Given the description of an element on the screen output the (x, y) to click on. 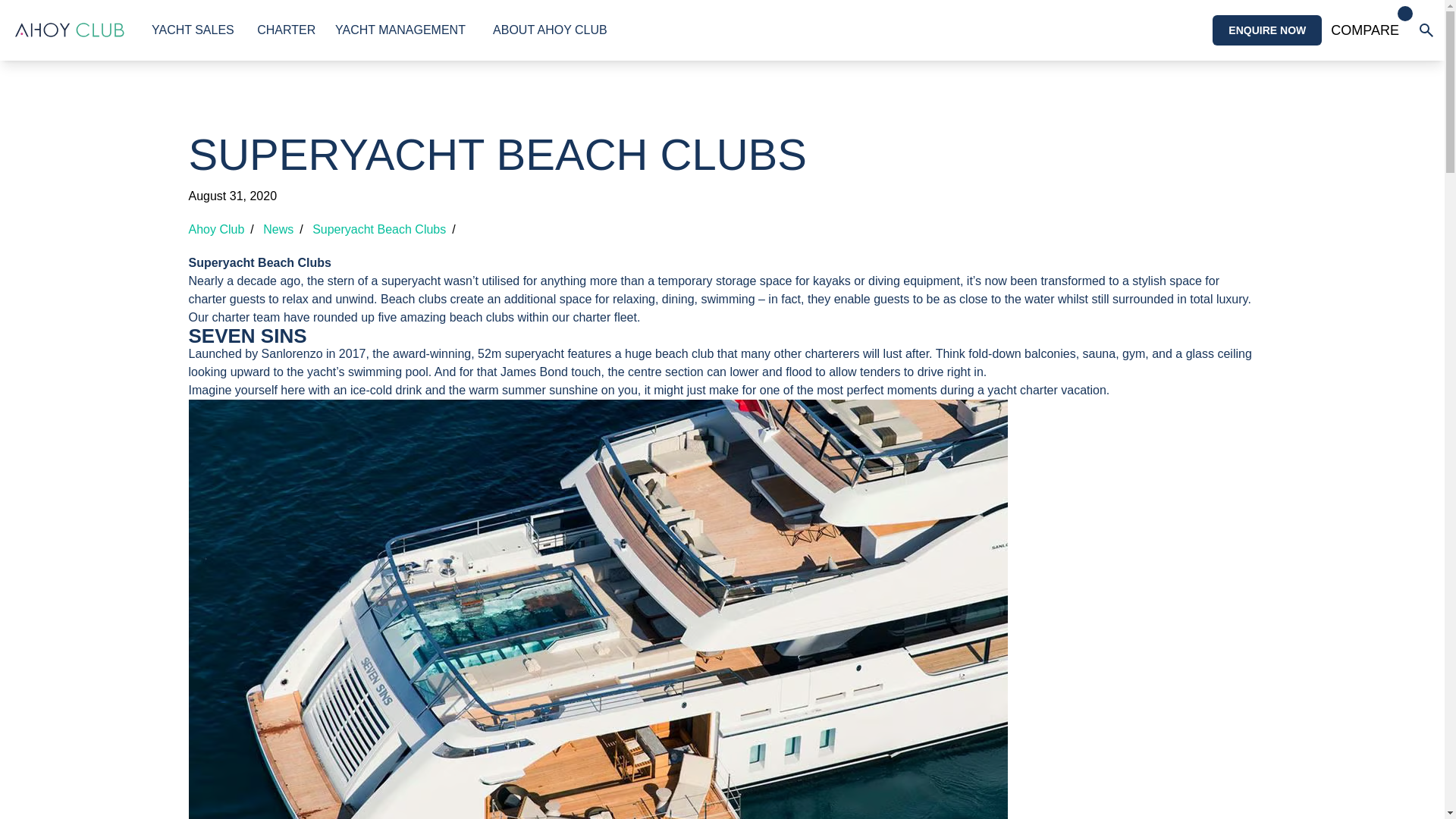
ABOUT AHOY CLUB (550, 30)
ENQUIRE NOW (1267, 30)
CHARTER (286, 30)
YACHT MANAGEMENT (399, 29)
YACHT SALES (1364, 29)
Ahoy Club (192, 30)
